Given the description of an element on the screen output the (x, y) to click on. 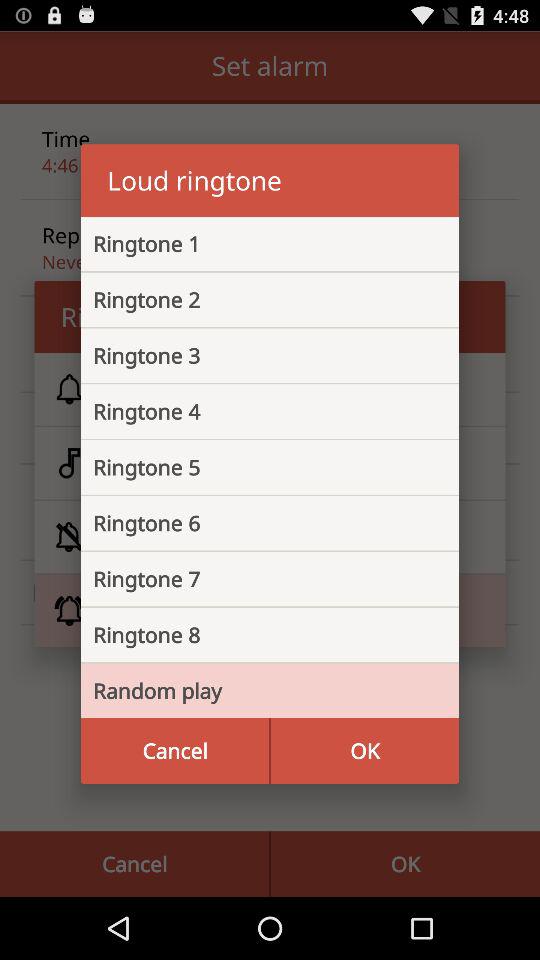
choose the item above cancel (254, 690)
